Given the description of an element on the screen output the (x, y) to click on. 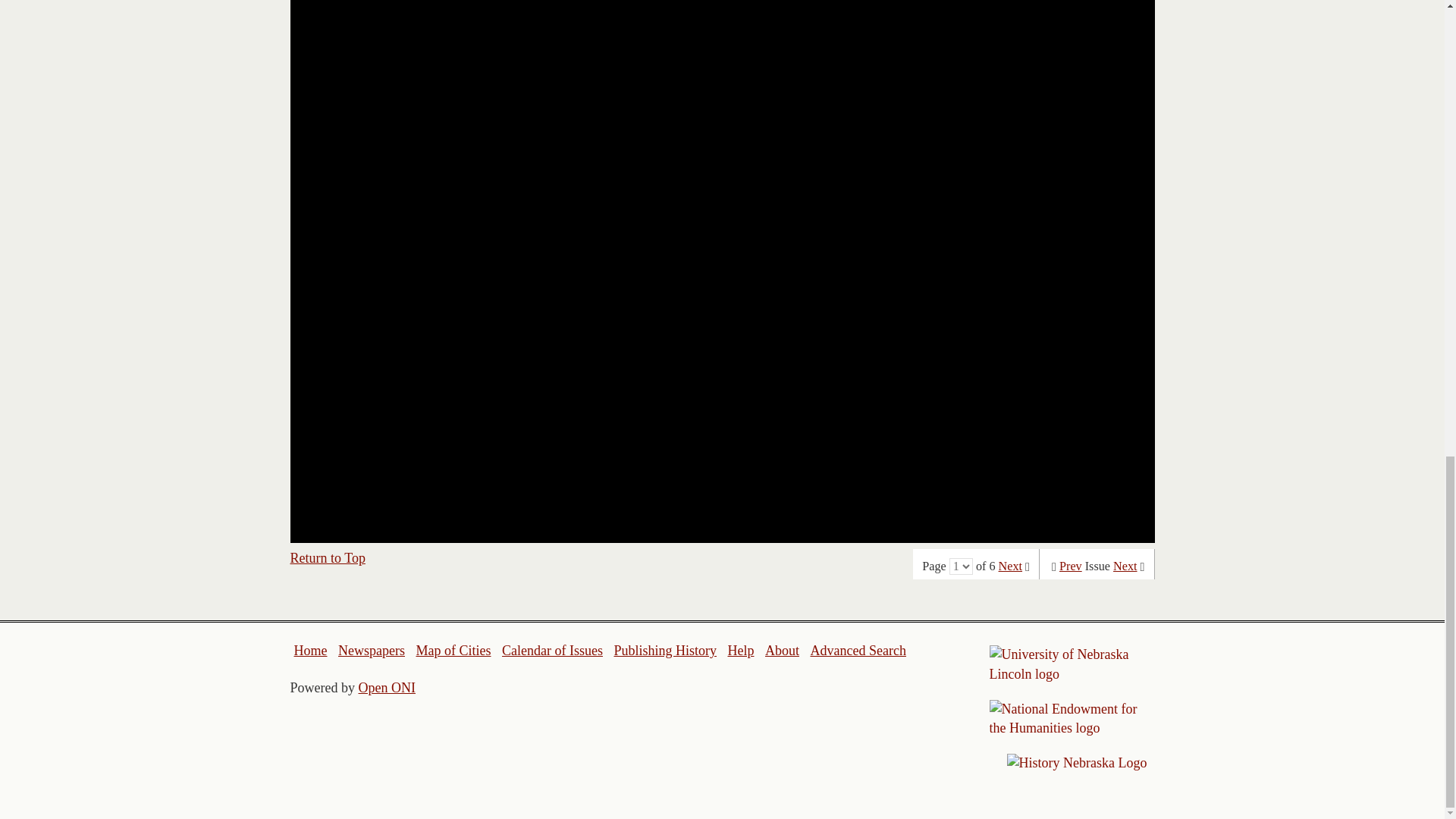
Next (1010, 566)
Advanced Search (857, 650)
Home (310, 650)
Open ONI (386, 687)
Prev (1070, 566)
About (782, 650)
Return to Top (327, 557)
Help (740, 650)
Publishing History (664, 650)
Map of Cities (452, 650)
Next (1125, 566)
Newspapers (370, 650)
Calendar of Issues (552, 650)
